Given the description of an element on the screen output the (x, y) to click on. 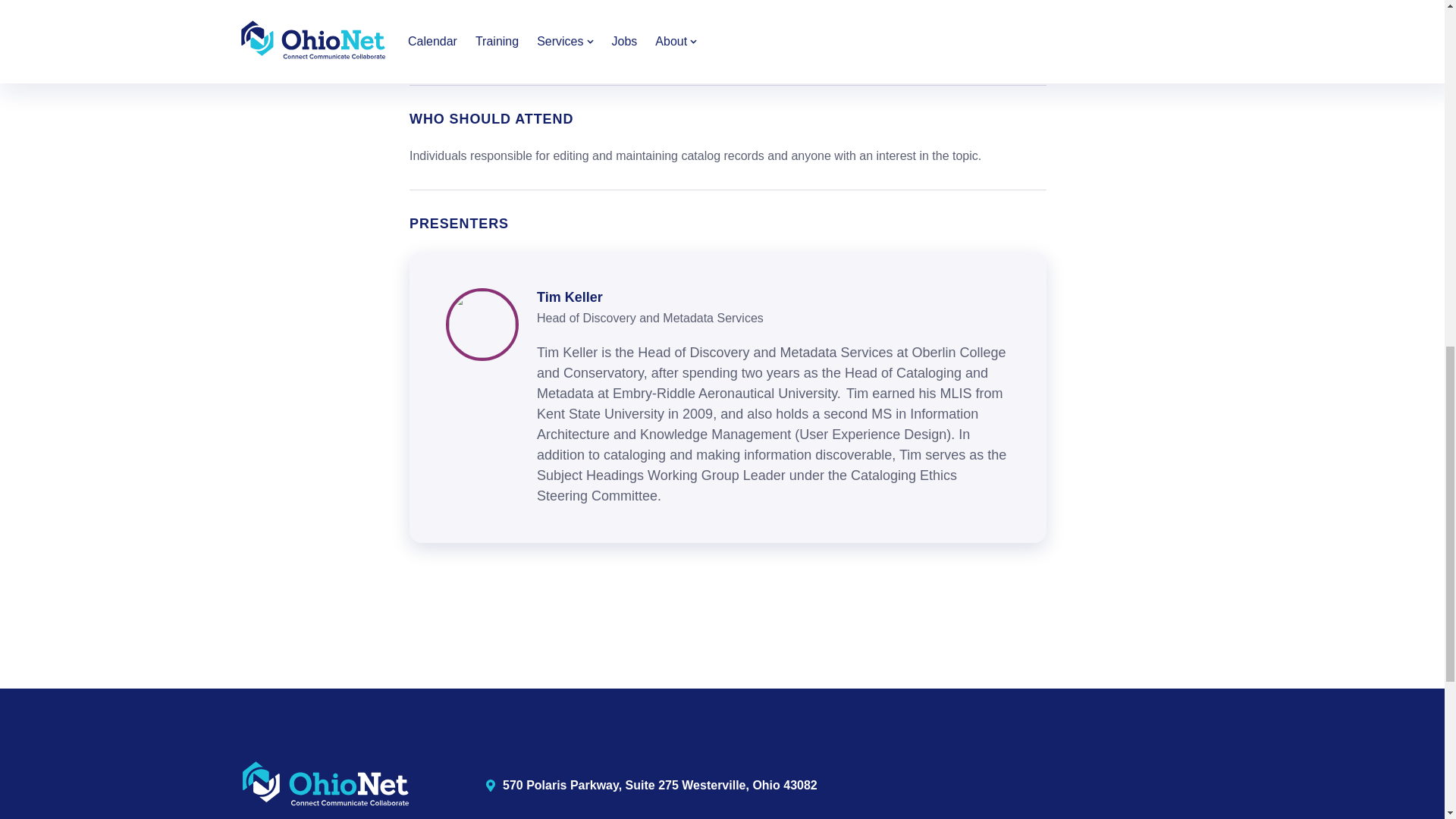
OhioNET - Connect, Communicate, Collaborate. (326, 783)
OhioNET - Connect, Communicate, Collaborate. (326, 785)
Assessing Assigned Subject Headings (539, 51)
Overview of Subject Headings (514, 26)
